Given the description of an element on the screen output the (x, y) to click on. 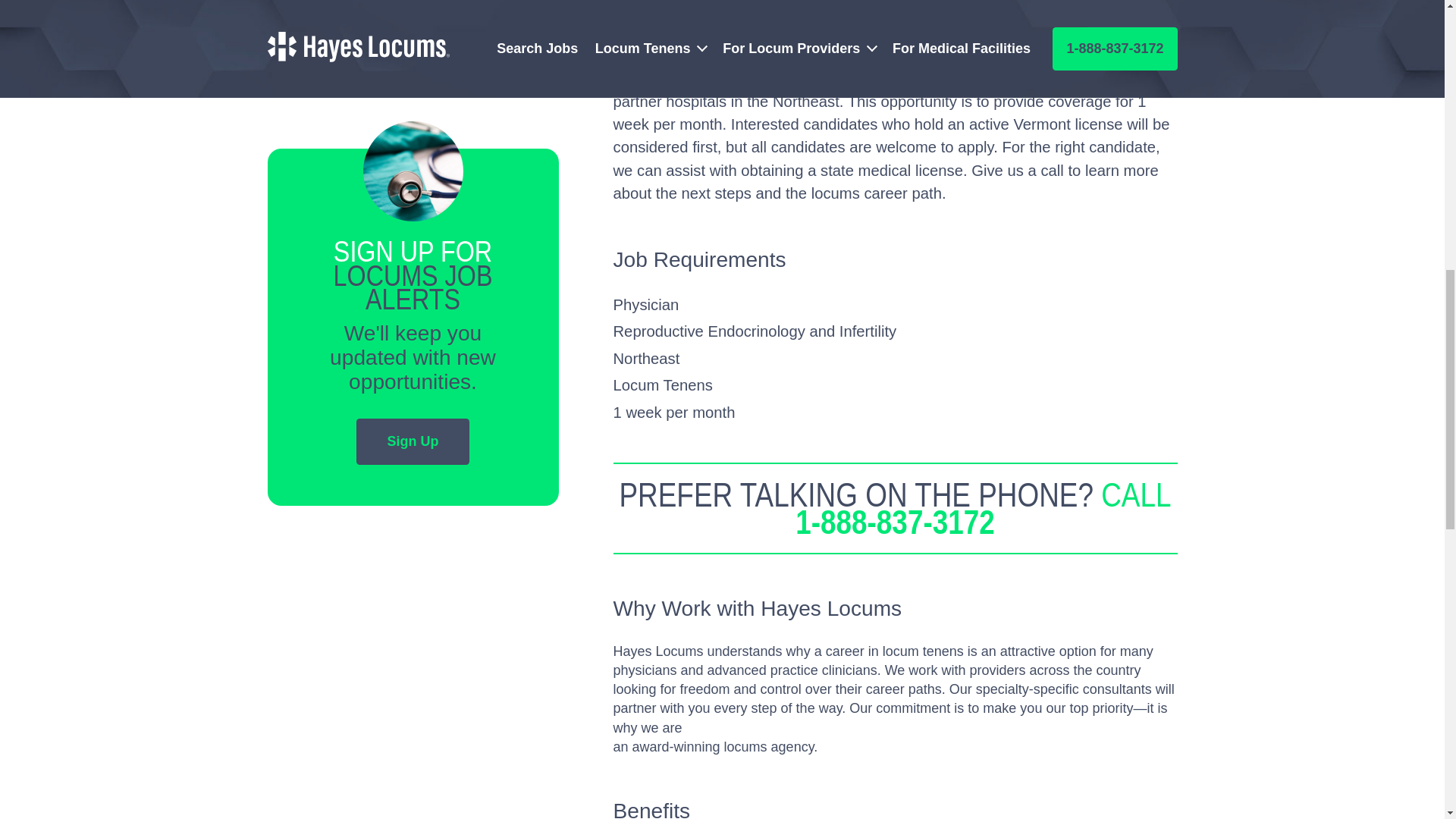
Call our consultants (412, 30)
Call our consultants (894, 521)
1-888-837-3172 (412, 30)
Sign Up (412, 442)
Sign Up (412, 442)
1-888-837-3172 (894, 521)
